Given the description of an element on the screen output the (x, y) to click on. 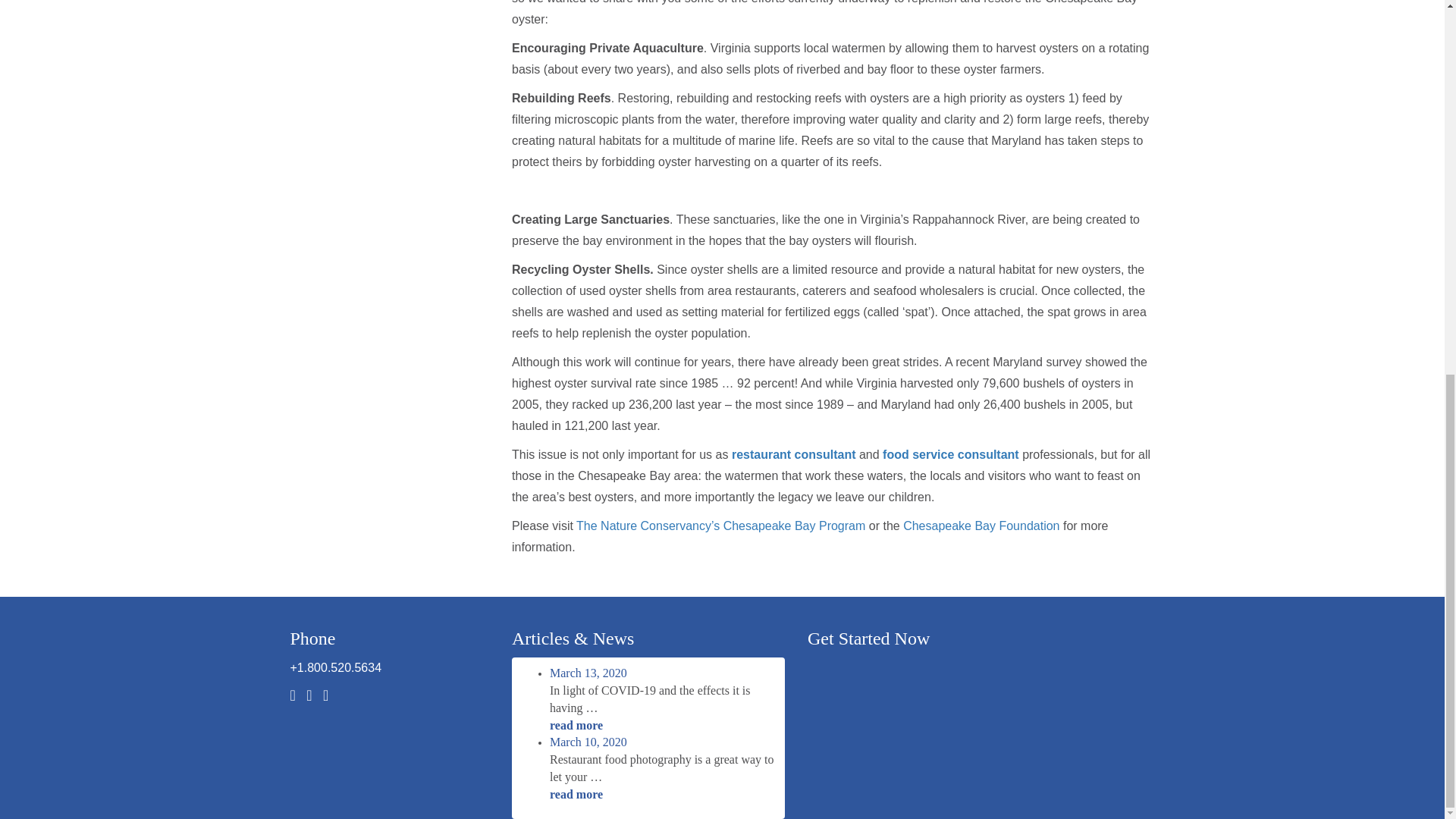
read more (663, 794)
restaurant consultant (794, 454)
Chesapeake Bay Foundation (980, 525)
food service consultant (950, 454)
read more (663, 725)
